Given the description of an element on the screen output the (x, y) to click on. 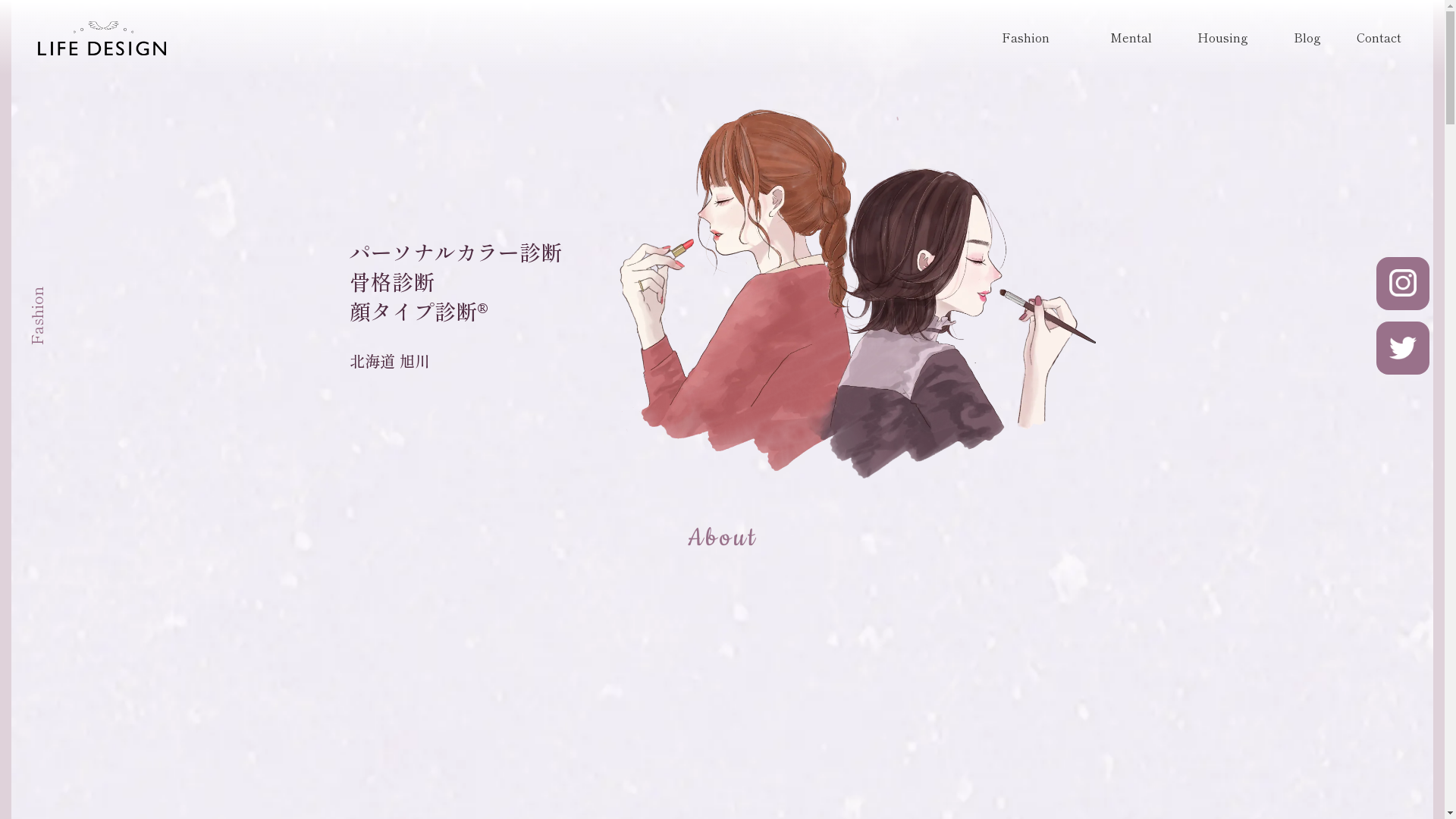
Blog Element type: text (1307, 37)
Contact Element type: text (1378, 37)
Housing Element type: text (1222, 37)
Fashion Element type: text (1025, 37)
Mental Element type: text (1130, 37)
